Given the description of an element on the screen output the (x, y) to click on. 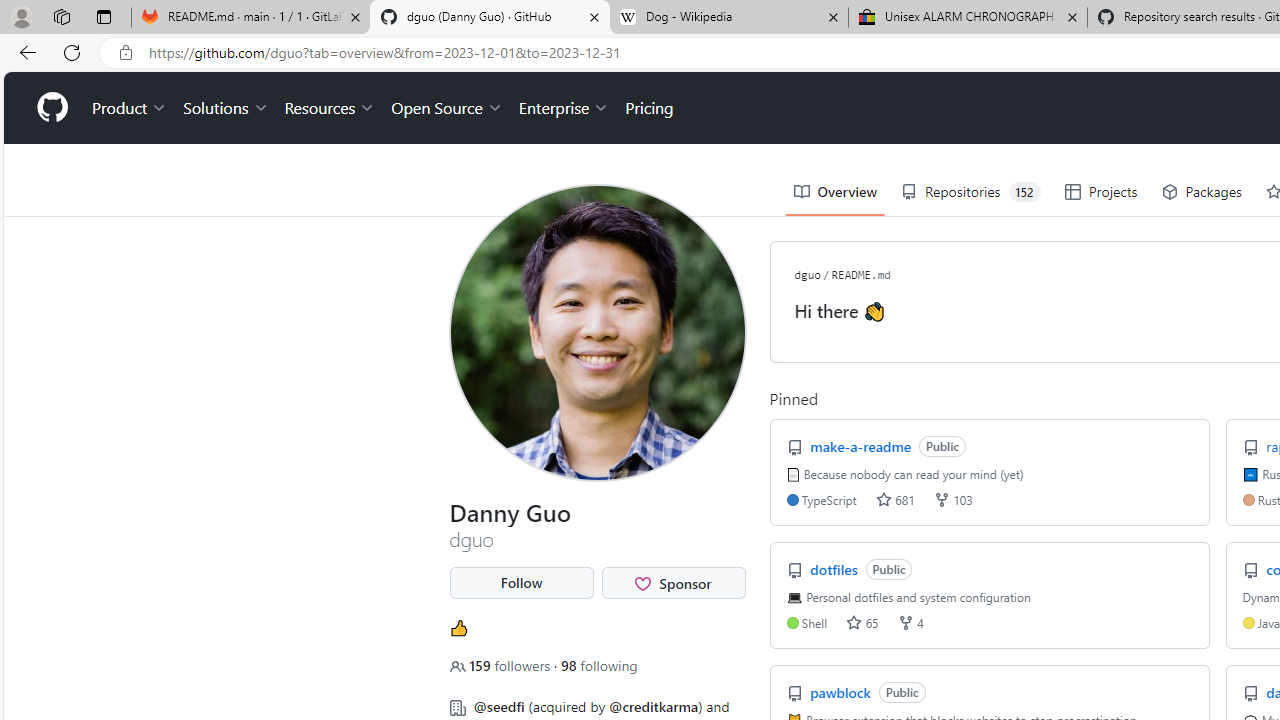
@dguo (465, 95)
Sponsor @dguo (673, 583)
Repositories 152 (971, 192)
98 following (598, 665)
stars 681 (895, 499)
View dguo's full-sized avatar (597, 332)
Solutions (225, 107)
Follow (521, 583)
stars (854, 622)
@seedfi (498, 705)
dguo (806, 274)
